Given the description of an element on the screen output the (x, y) to click on. 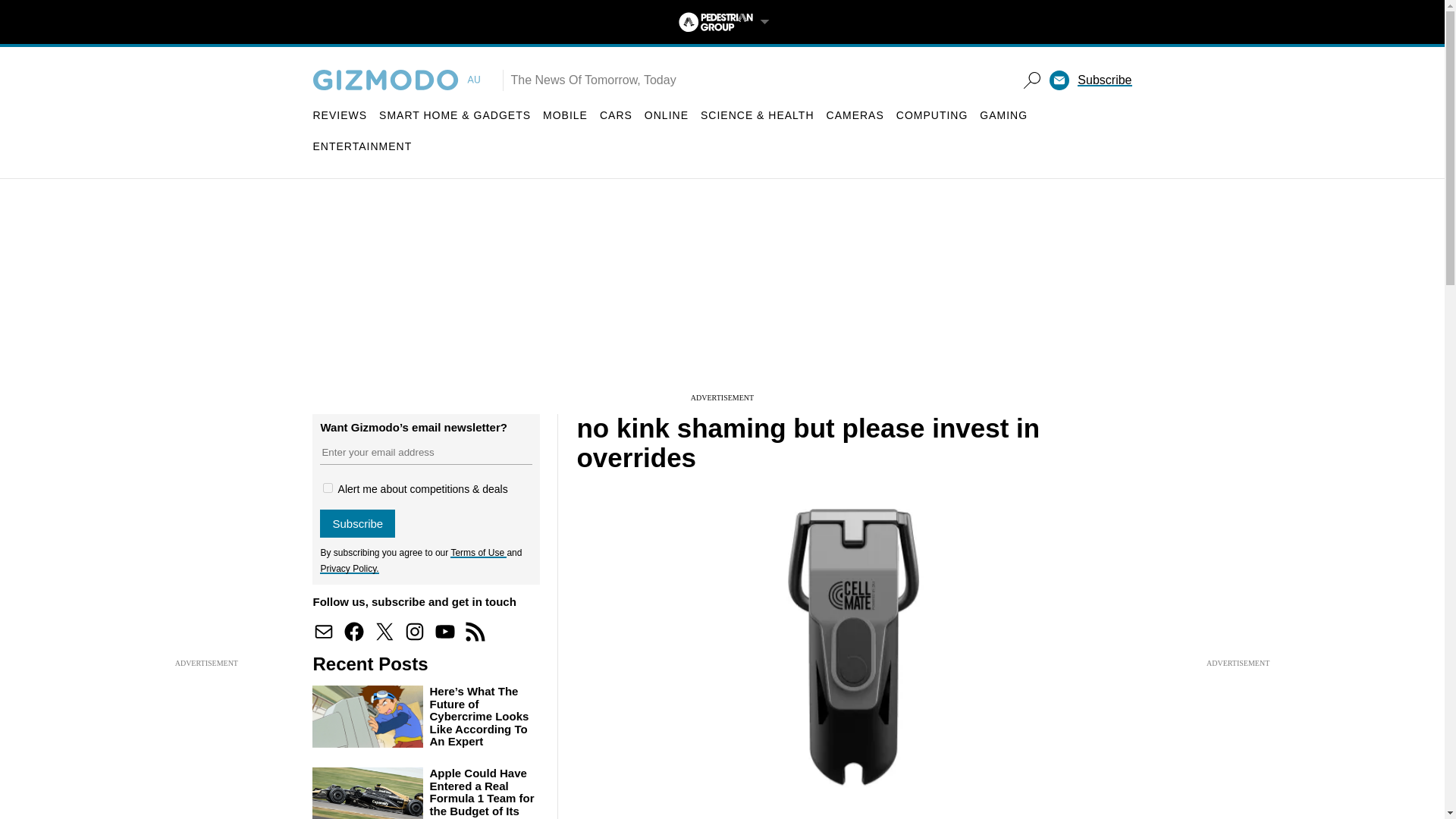
COMPUTING (932, 115)
REVIEWS (339, 115)
MOBILE (565, 115)
ENTERTAINMENT (362, 145)
ONLINE (666, 115)
Subscribe (357, 523)
Subscribe (1104, 79)
CARS (615, 115)
GAMING (1003, 115)
CAMERAS (855, 115)
